Given the description of an element on the screen output the (x, y) to click on. 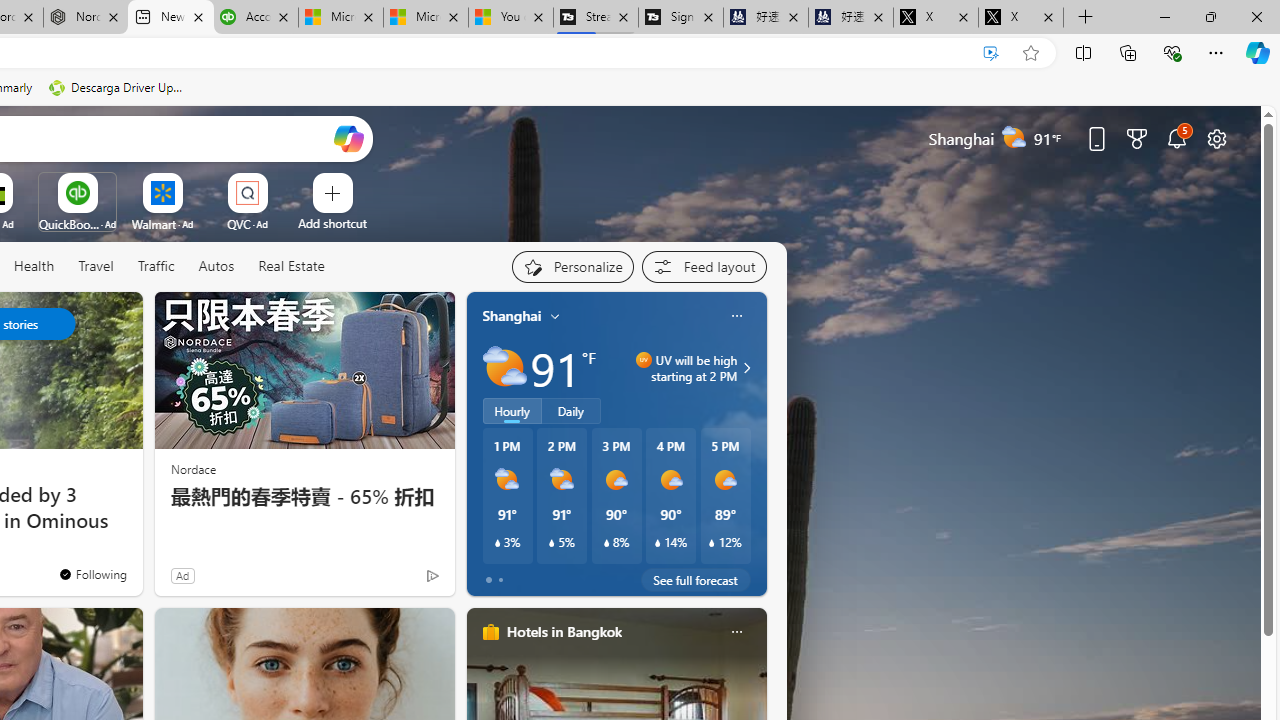
More Options (279, 179)
Real Estate (291, 265)
Feed settings (703, 266)
My location (555, 315)
Enhance video (991, 53)
Health (33, 267)
Personalize your feed" (571, 266)
